Given the description of an element on the screen output the (x, y) to click on. 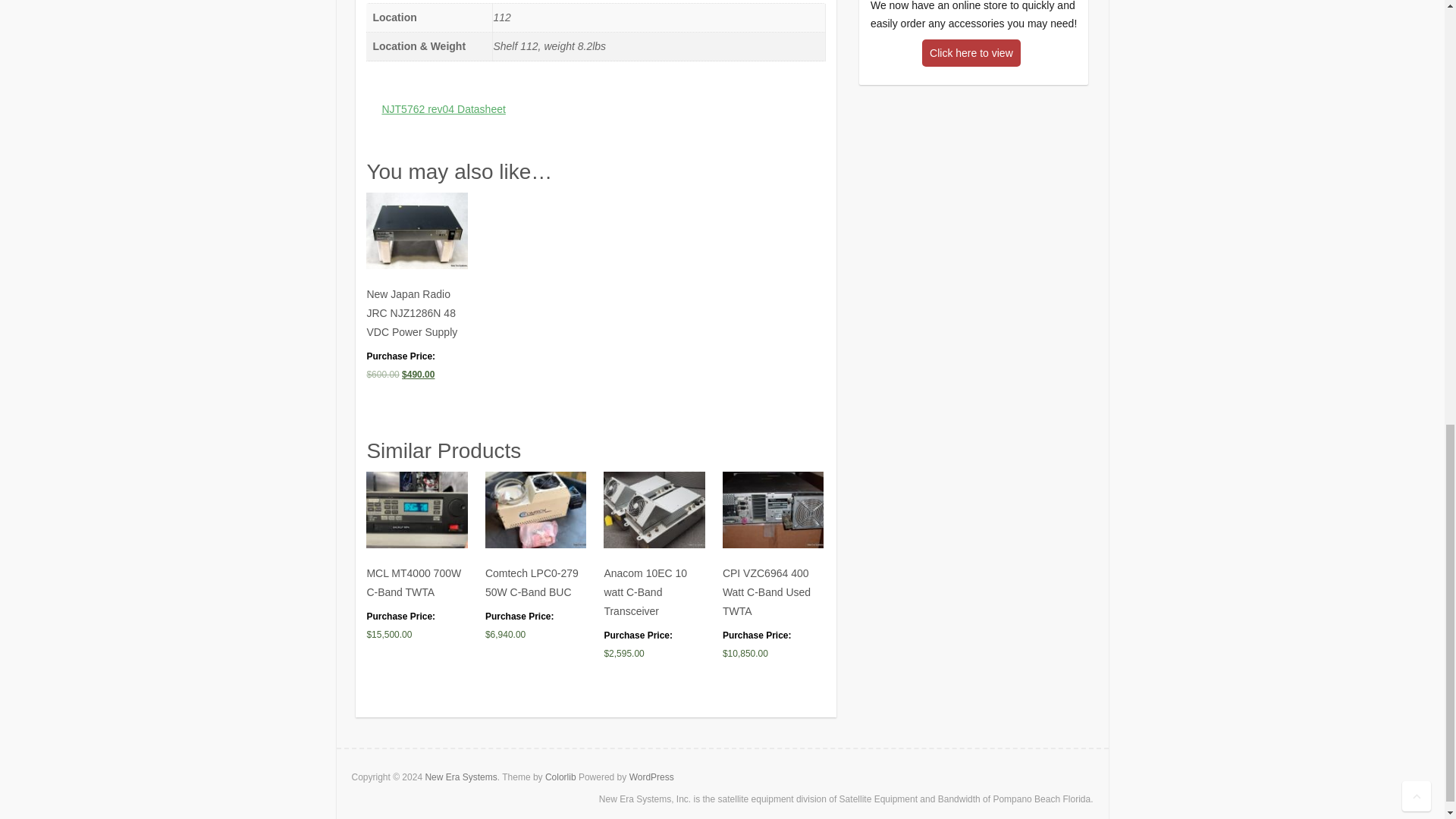
New Era Systems (460, 777)
Colorlib (560, 777)
WordPress (651, 777)
